Given the description of an element on the screen output the (x, y) to click on. 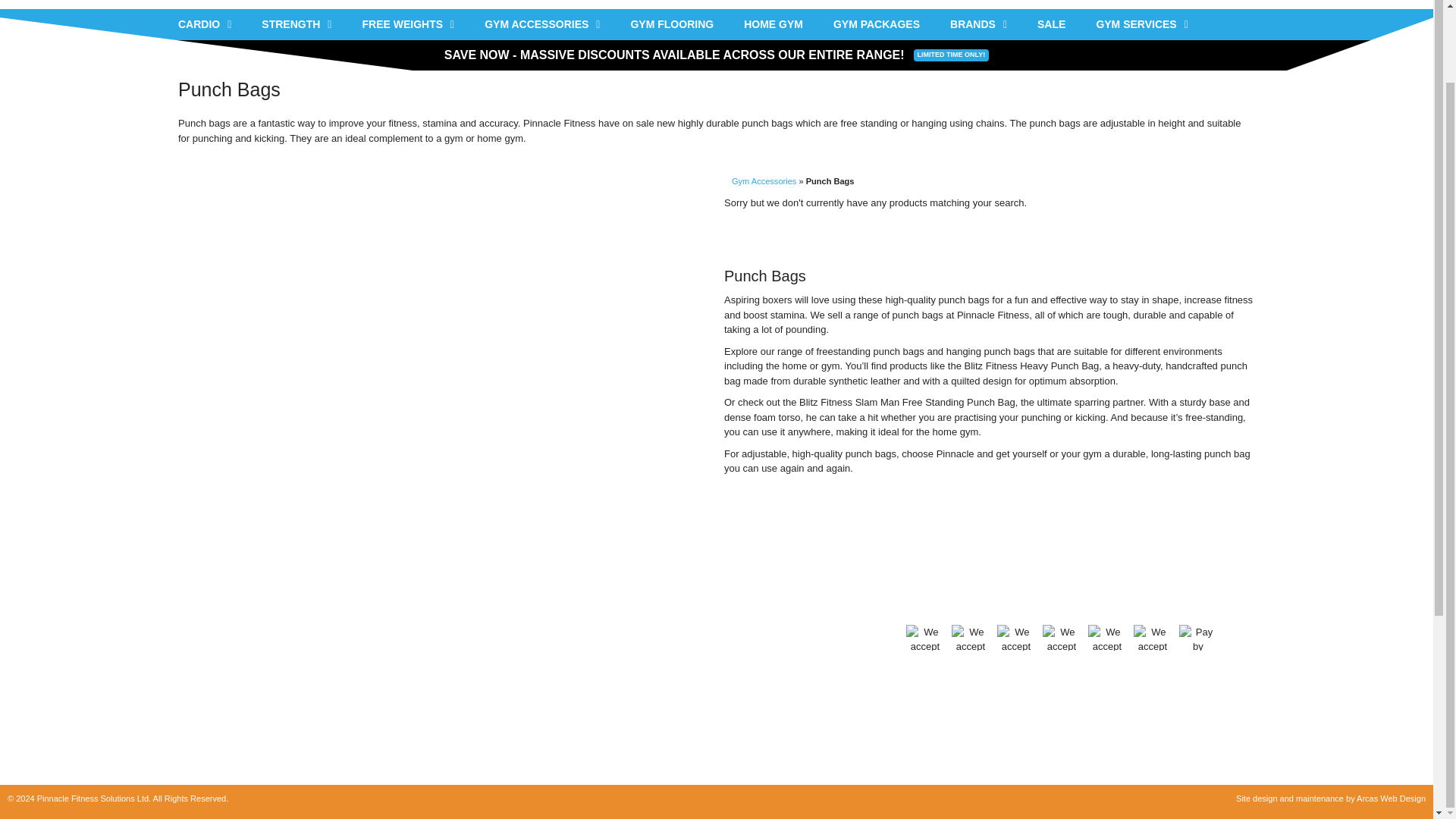
CARDIO (204, 24)
STRENGTH (296, 24)
